Given the description of an element on the screen output the (x, y) to click on. 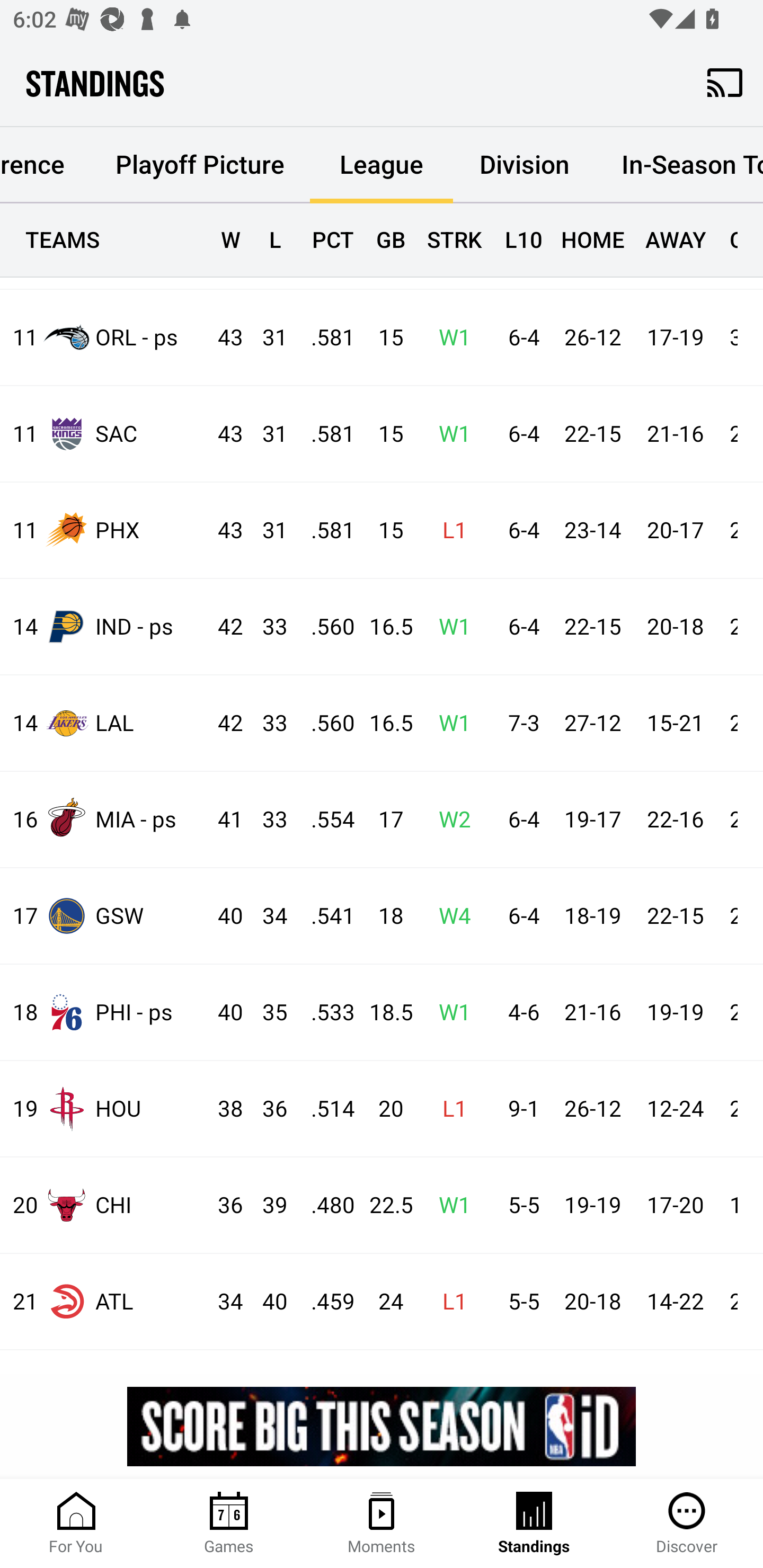
Cast. Disconnected (724, 82)
Conference (45, 159)
Playoff Picture (199, 165)
Division (524, 165)
In-Season Tournament (679, 165)
10 NYK - ps (104, 245)
11 ORL - ps (104, 337)
31 (265, 337)
.581 (323, 337)
15 (382, 337)
W1 (449, 337)
6-4 (518, 337)
26-12 (592, 337)
17-19 (675, 337)
11 SAC (104, 433)
31 (265, 433)
.581 (323, 433)
15 (382, 433)
W1 (449, 433)
6-4 (518, 433)
22-15 (592, 433)
21-16 (675, 433)
11 PHX (104, 530)
31 (265, 530)
.581 (323, 530)
15 (382, 530)
L1 (449, 530)
6-4 (518, 530)
23-14 (592, 530)
20-17 (675, 530)
14 IND - ps (104, 626)
33 (265, 626)
.560 (323, 626)
16.5 (382, 626)
W1 (449, 626)
6-4 (518, 626)
22-15 (592, 626)
20-18 (675, 626)
14 LAL (104, 723)
33 (265, 723)
.560 (323, 723)
16.5 (382, 723)
W1 (449, 723)
7-3 (518, 723)
27-12 (592, 723)
15-21 (675, 723)
16 MIA - ps (104, 819)
33 (265, 819)
.554 (323, 819)
17 (382, 819)
W2 (449, 819)
6-4 (518, 819)
19-17 (592, 819)
22-16 (675, 819)
17 GSW (104, 916)
34 (265, 916)
.541 (323, 916)
18 (382, 916)
W4 (449, 916)
6-4 (518, 916)
18-19 (592, 916)
22-15 (675, 916)
18 PHI - ps (104, 1011)
35 (265, 1012)
.533 (323, 1012)
18.5 (382, 1012)
W1 (449, 1012)
4-6 (518, 1012)
21-16 (592, 1012)
19-19 (675, 1012)
19 HOU (104, 1109)
36 (265, 1108)
.514 (323, 1108)
20 (382, 1108)
L1 (449, 1108)
9-1 (518, 1108)
26-12 (592, 1108)
12-24 (675, 1108)
20 CHI (104, 1204)
39 (265, 1205)
.480 (323, 1205)
22.5 (382, 1205)
W1 (449, 1205)
5-5 (518, 1205)
19-19 (592, 1205)
17-20 (675, 1205)
21 ATL (104, 1301)
40 (265, 1301)
.459 (323, 1301)
24 (382, 1301)
L1 (449, 1301)
5-5 (518, 1301)
20-18 (592, 1301)
14-22 (675, 1301)
g5nqqygr7owph (381, 1426)
For You (76, 1523)
Games (228, 1523)
Moments (381, 1523)
Discover (686, 1523)
